Given the description of an element on the screen output the (x, y) to click on. 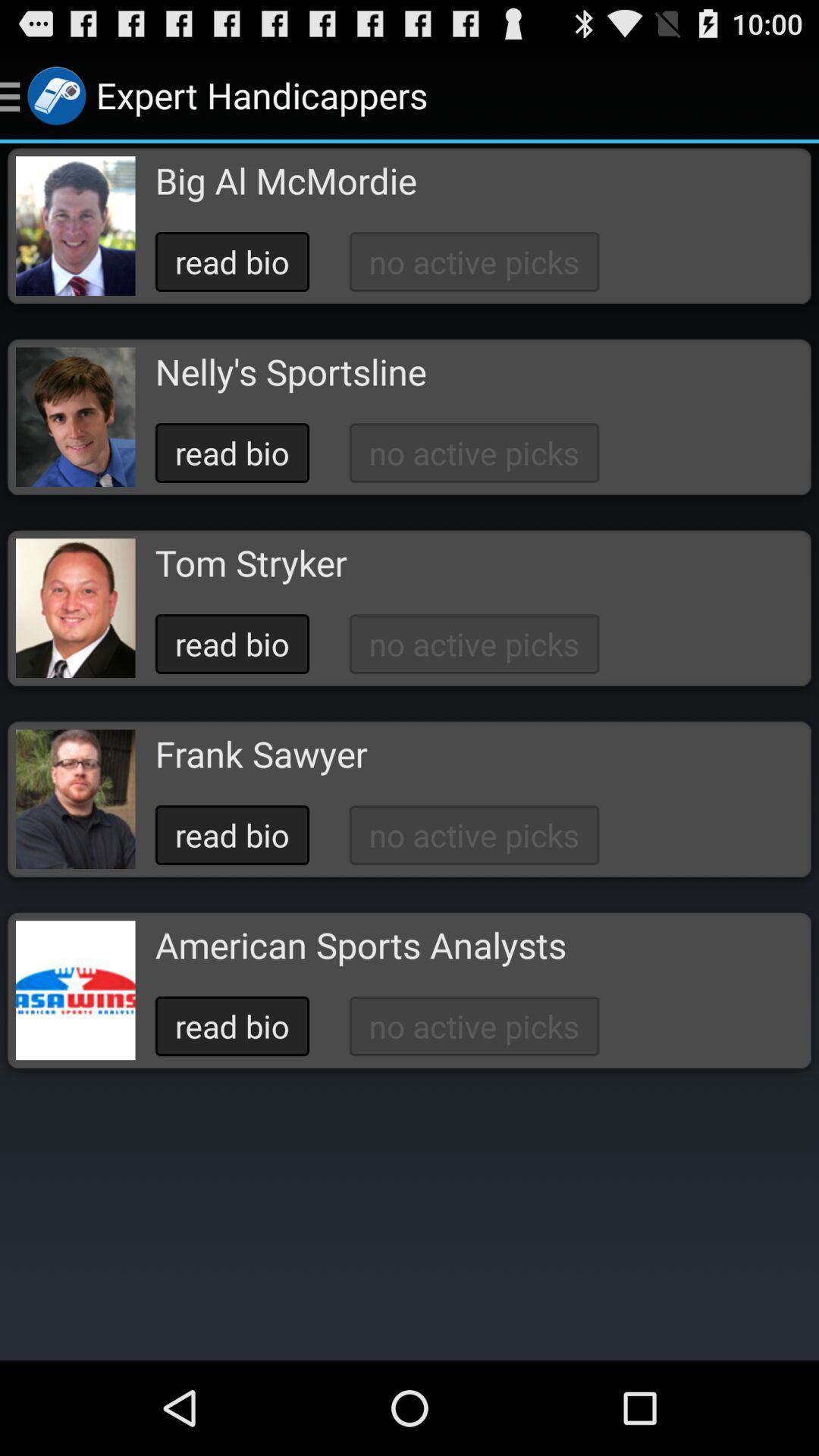
click the button above the read bio (360, 944)
